Given the description of an element on the screen output the (x, y) to click on. 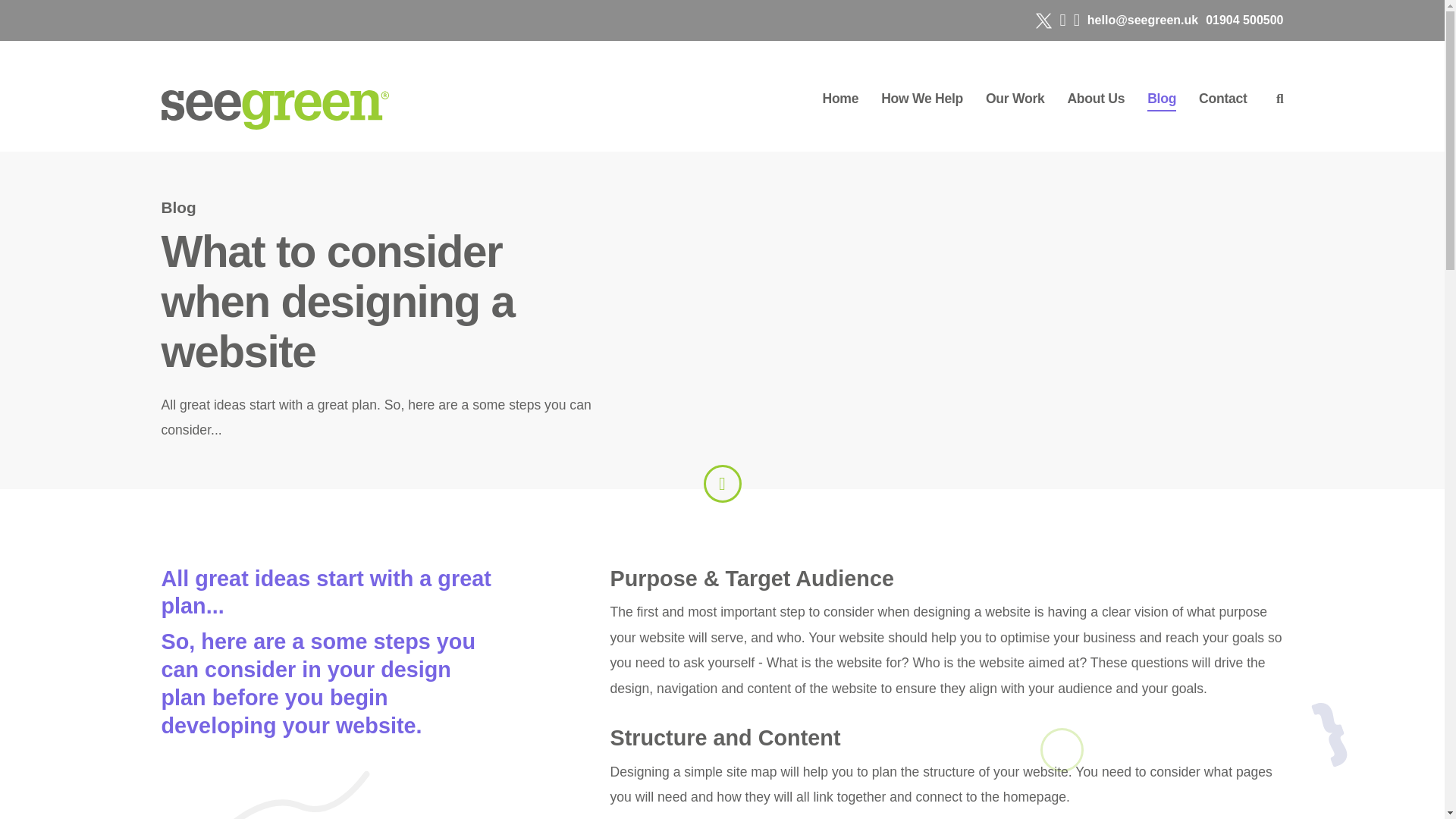
Home (840, 98)
About Us (1095, 98)
How We Help (921, 98)
Blog (1161, 101)
Home (840, 98)
About Us (1095, 98)
See Green (274, 109)
Our Work (1014, 98)
Contact (1222, 98)
01904 500500 (1243, 19)
